Given the description of an element on the screen output the (x, y) to click on. 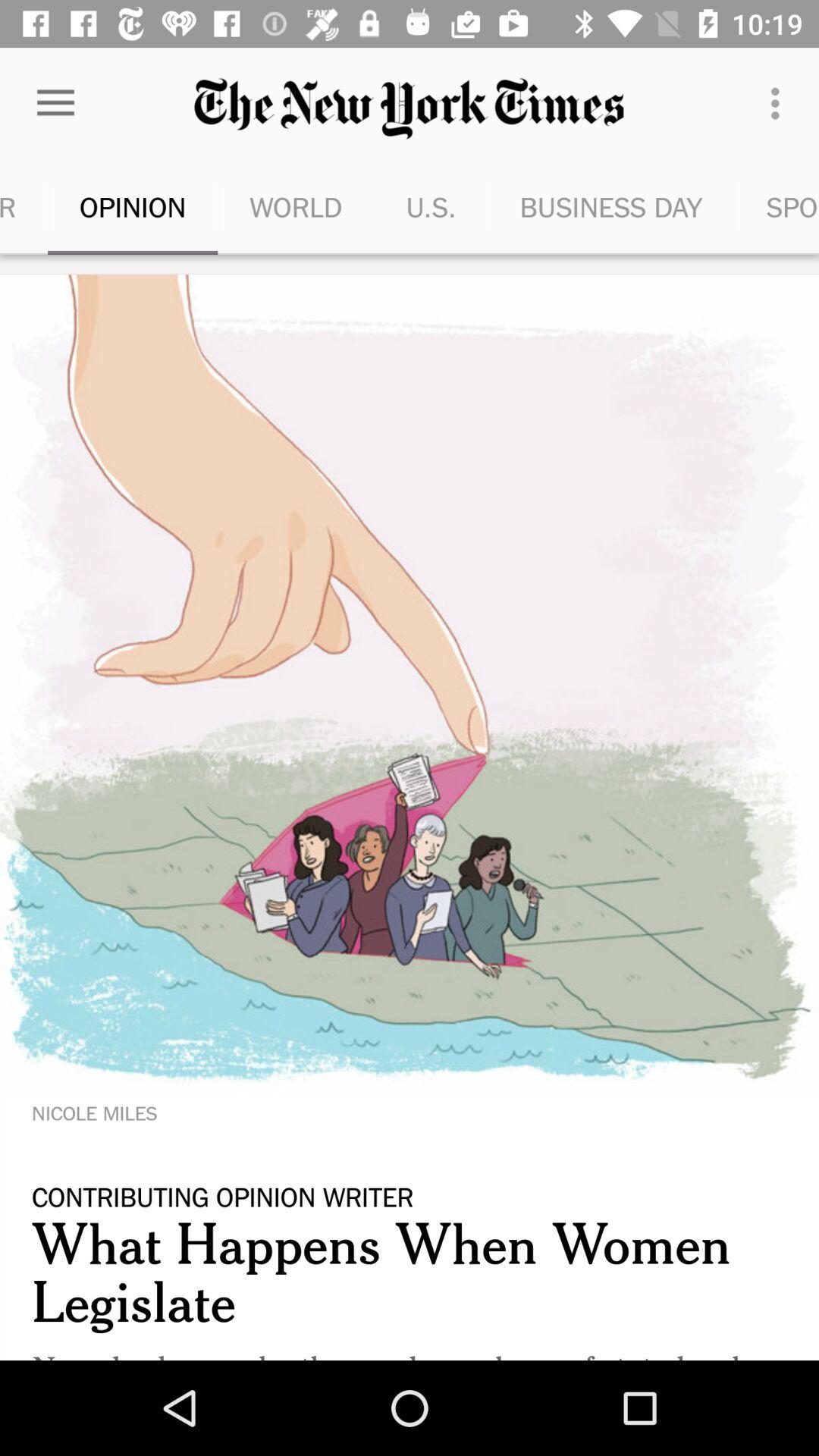
click icon next to opinion item (295, 206)
